Given the description of an element on the screen output the (x, y) to click on. 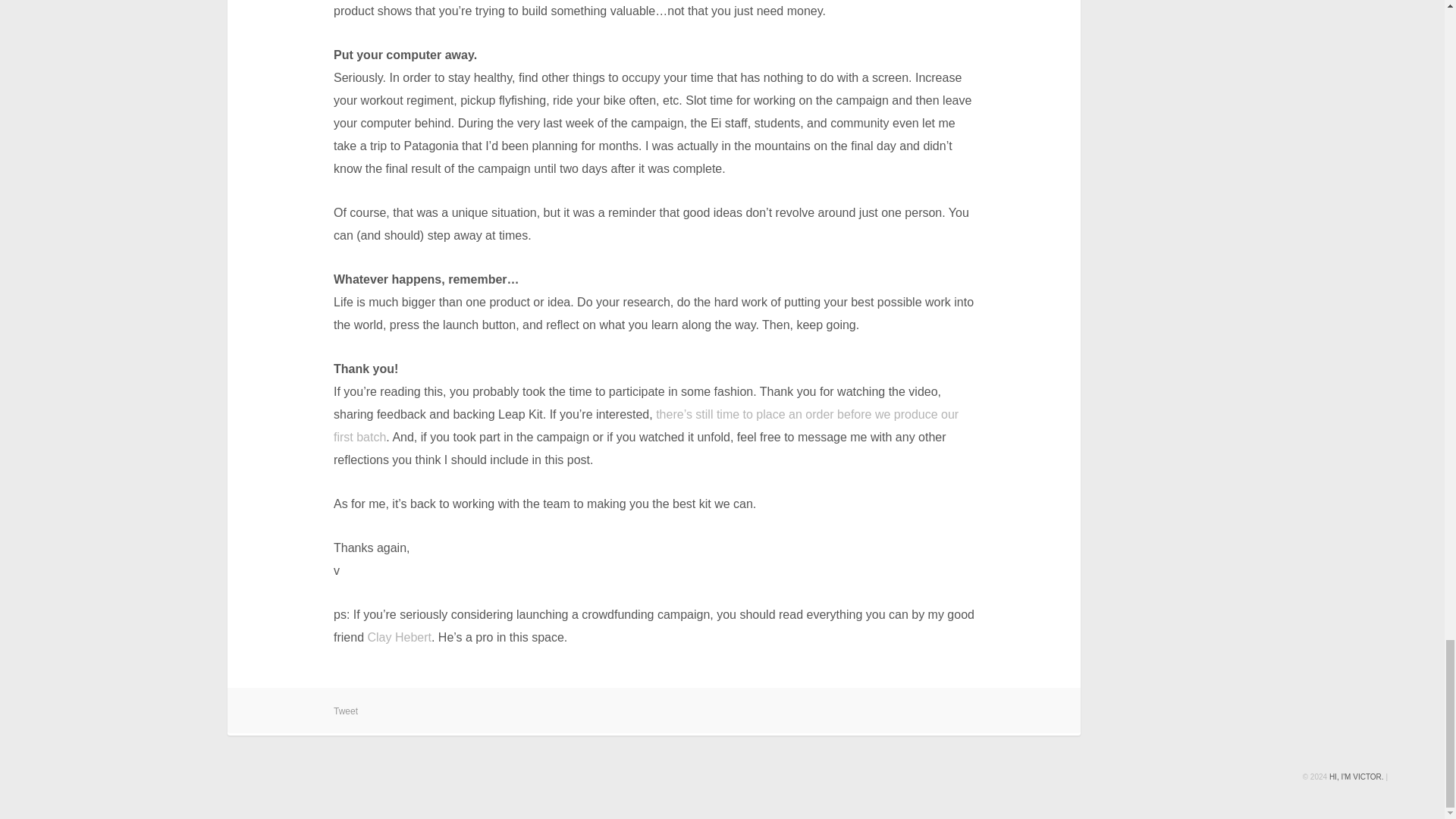
Tweet (653, 710)
Clay Hebert (398, 636)
